Given the description of an element on the screen output the (x, y) to click on. 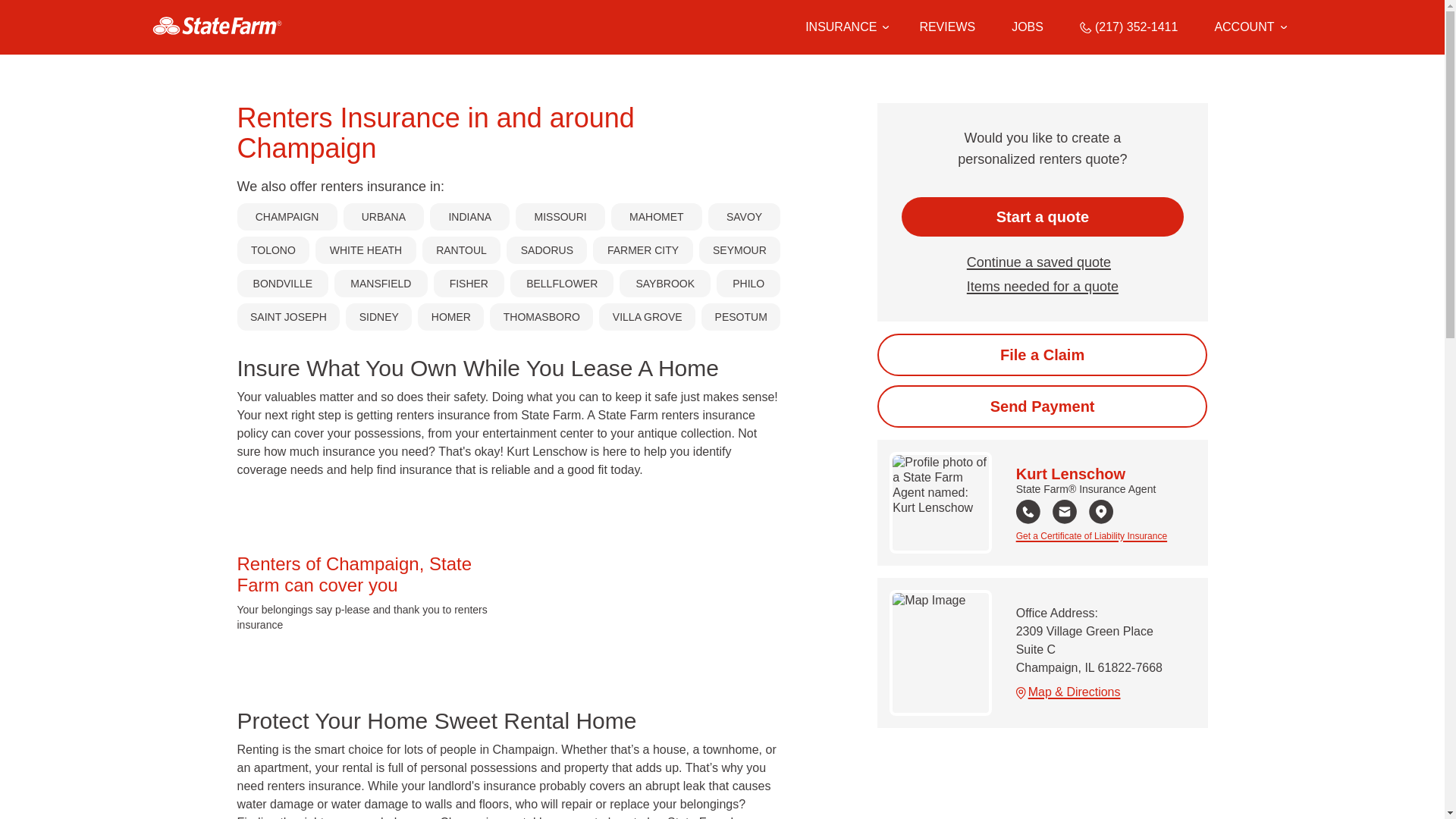
ACCOUNT (1250, 27)
REVIEWS (946, 27)
Account Options (1250, 27)
JOBS (1027, 27)
INSURANCE (840, 27)
Start the claim process online (1042, 354)
Insurance (844, 27)
